Given the description of an element on the screen output the (x, y) to click on. 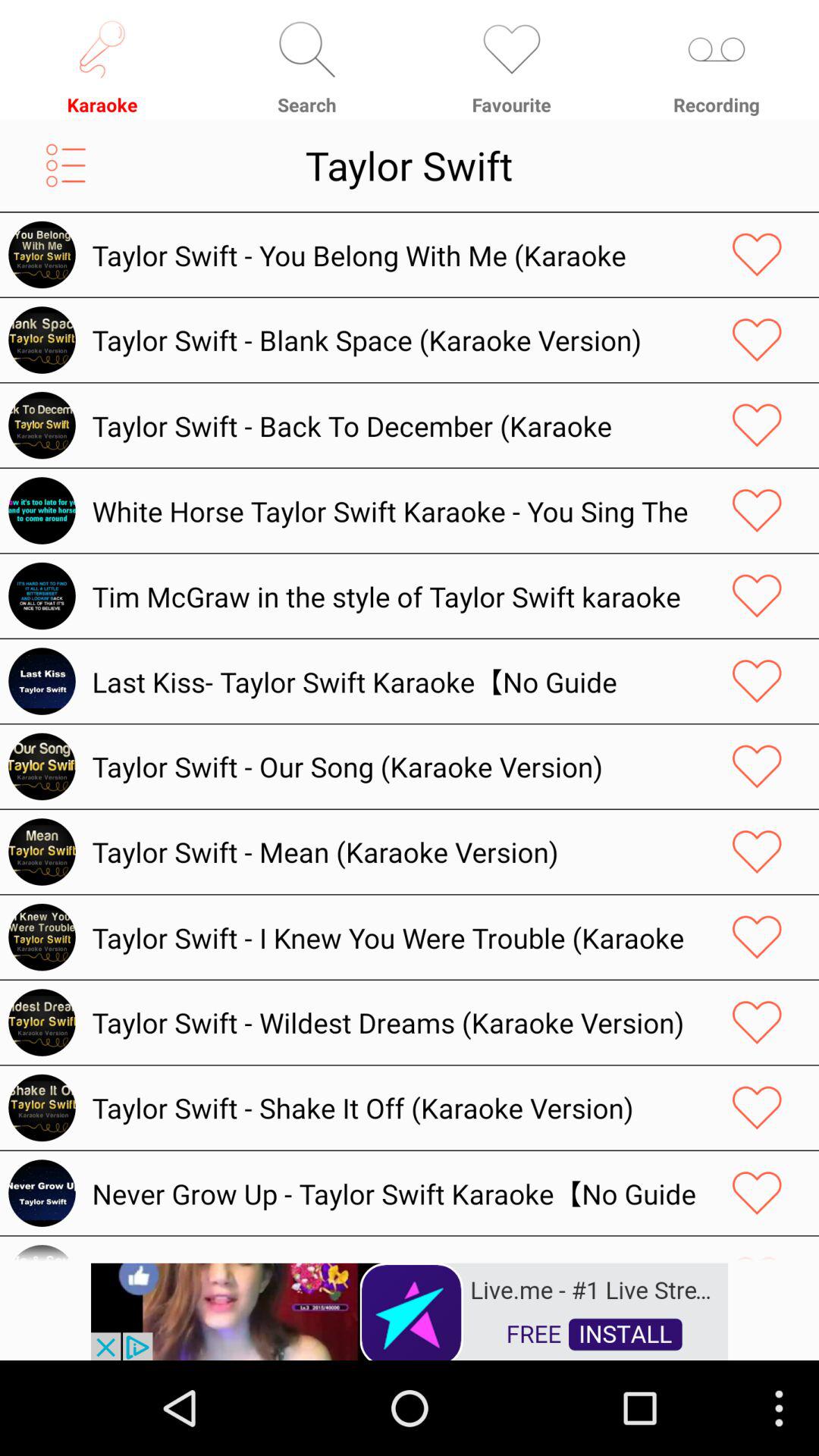
your love track (756, 1107)
